Given the description of an element on the screen output the (x, y) to click on. 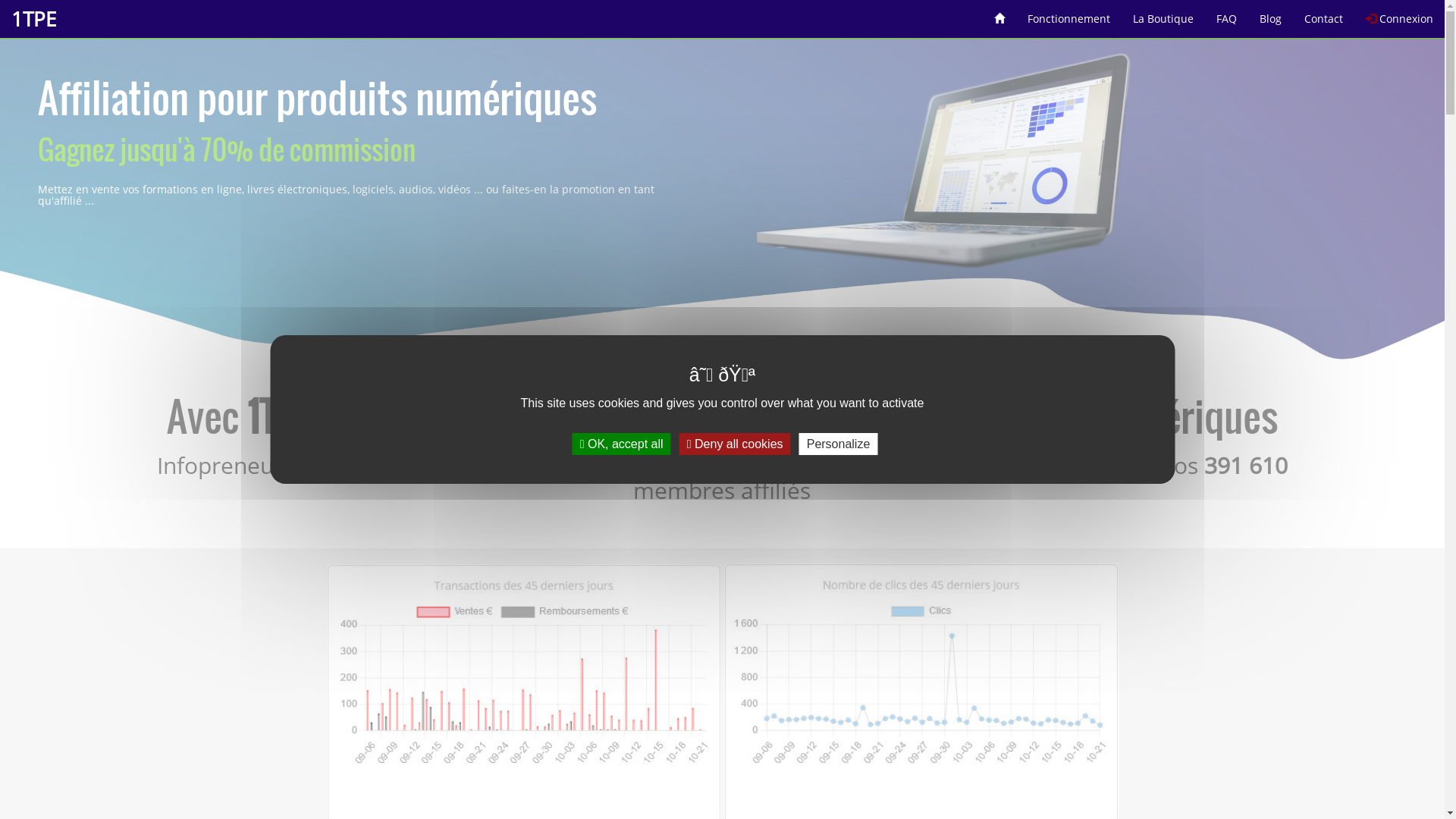
Blog Element type: text (1270, 13)
1TPE Element type: text (33, 18)
Deny all cookies Element type: text (734, 444)
OK, accept all Element type: text (621, 444)
Personalize Element type: text (838, 444)
Contact Element type: text (1323, 13)
FAQ Element type: text (1226, 13)
Connexion Element type: text (1399, 13)
Fonctionnement Element type: text (1068, 13)
La Boutique Element type: text (1162, 13)
